Given the description of an element on the screen output the (x, y) to click on. 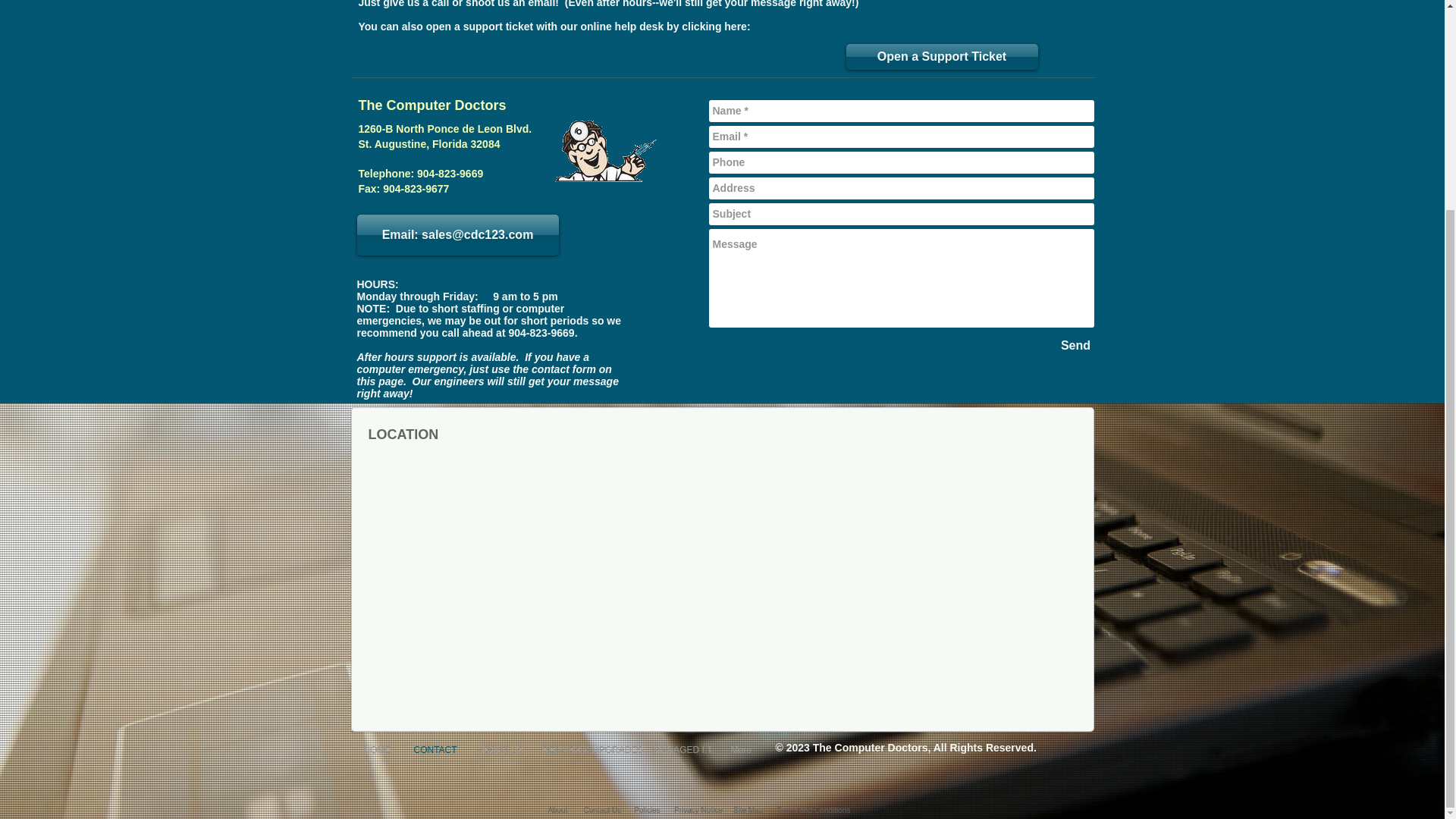
Send (1075, 345)
CONTACT (433, 747)
Open a Support Ticket (941, 56)
ABOUT US (497, 747)
HOME (376, 747)
